Given the description of an element on the screen output the (x, y) to click on. 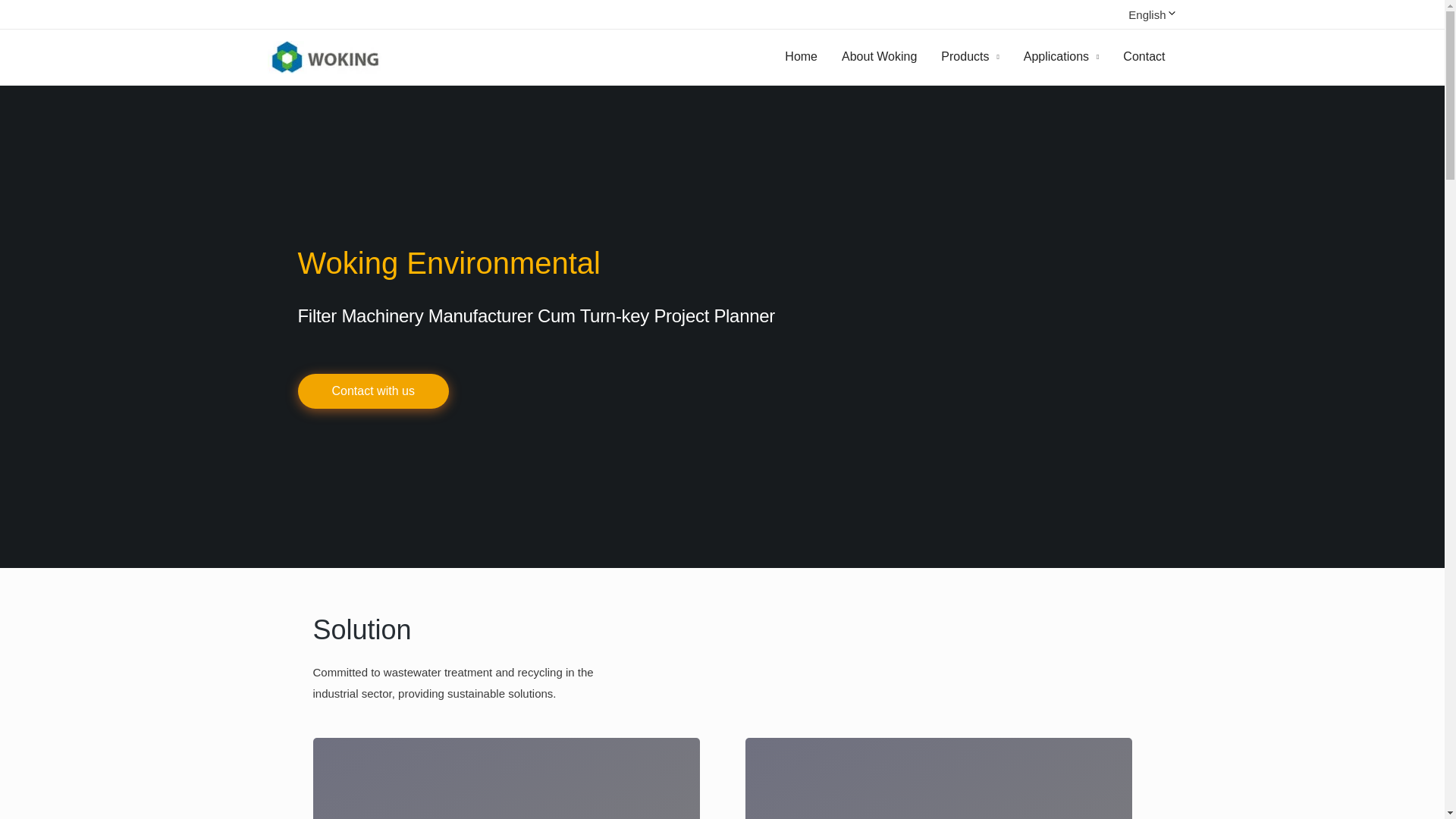
Products (969, 56)
English (1138, 14)
About Woking (878, 56)
Home (801, 56)
